Given the description of an element on the screen output the (x, y) to click on. 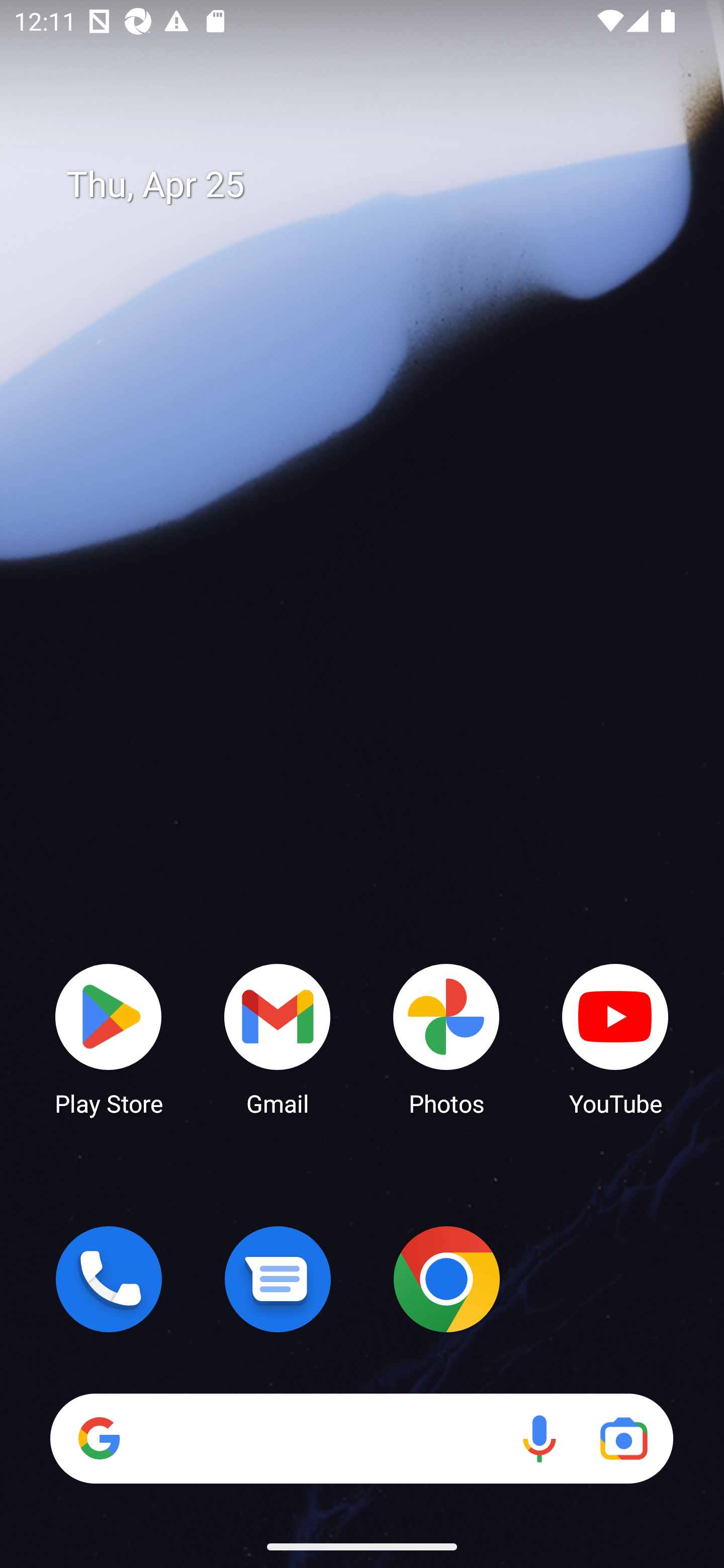
Thu, Apr 25 (375, 184)
Play Store (108, 1038)
Gmail (277, 1038)
Photos (445, 1038)
YouTube (615, 1038)
Phone (108, 1279)
Messages (277, 1279)
Chrome (446, 1279)
Search Voice search Google Lens (361, 1438)
Voice search (539, 1438)
Google Lens (623, 1438)
